Given the description of an element on the screen output the (x, y) to click on. 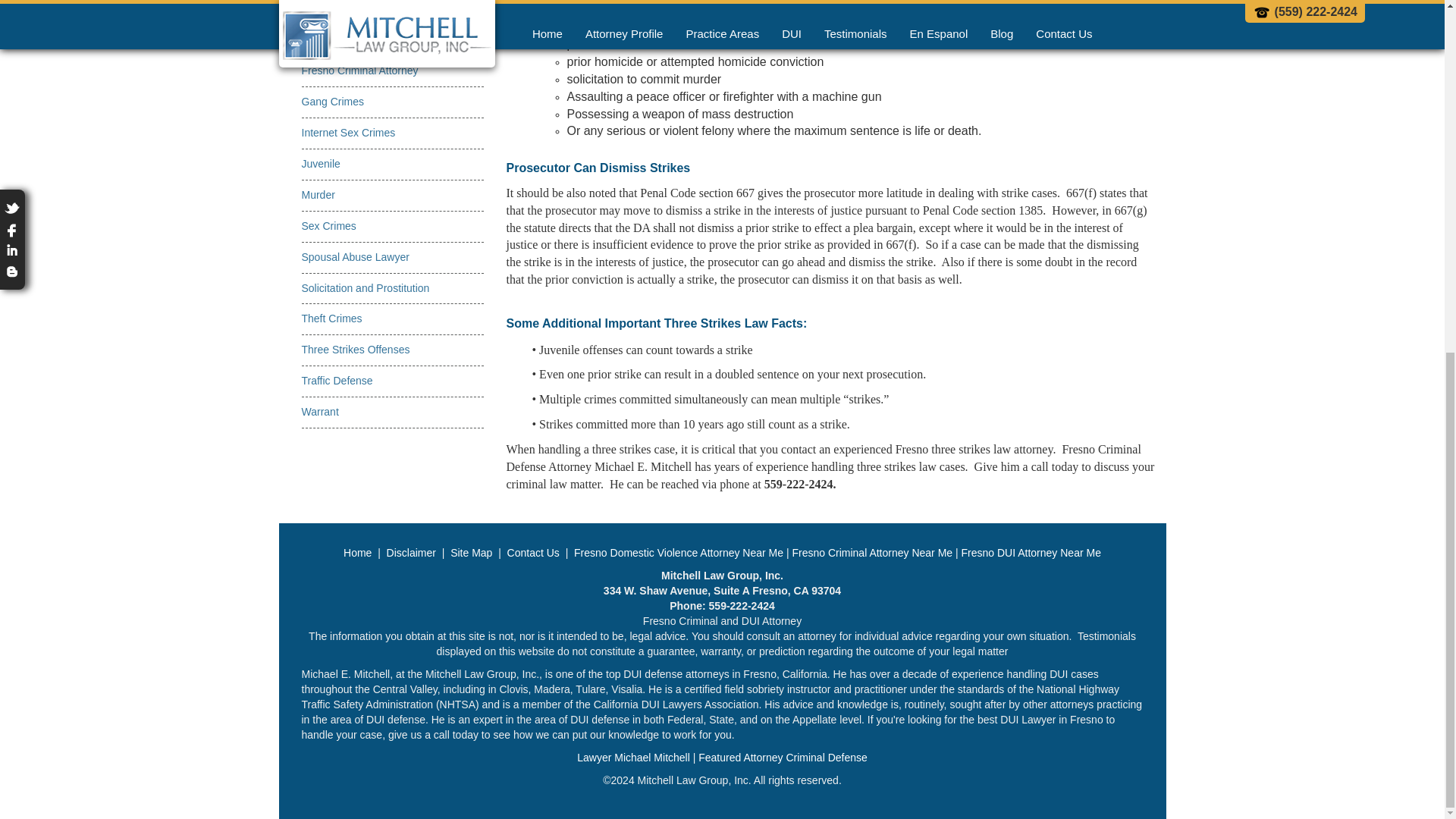
Disclaimer (411, 552)
Fresno DUI Attorney Near Me (1030, 552)
Fresno Criminal Attorney Near Me (872, 552)
Contact Us (532, 552)
Home (358, 552)
Site Map (470, 552)
